Given the description of an element on the screen output the (x, y) to click on. 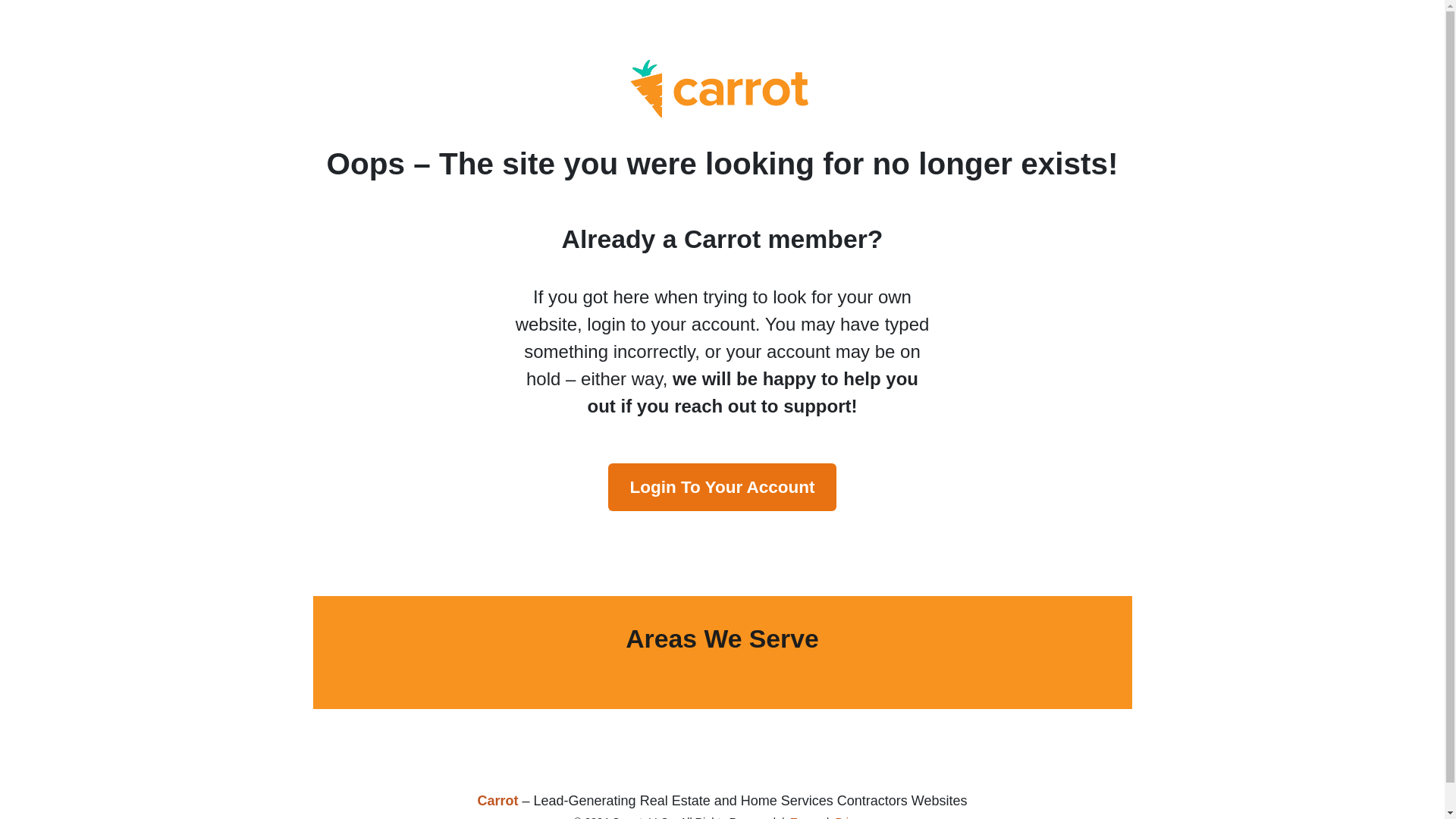
Terms (804, 817)
Carrot (497, 800)
Login To Your Account (721, 487)
Privacy (852, 817)
